Given the description of an element on the screen output the (x, y) to click on. 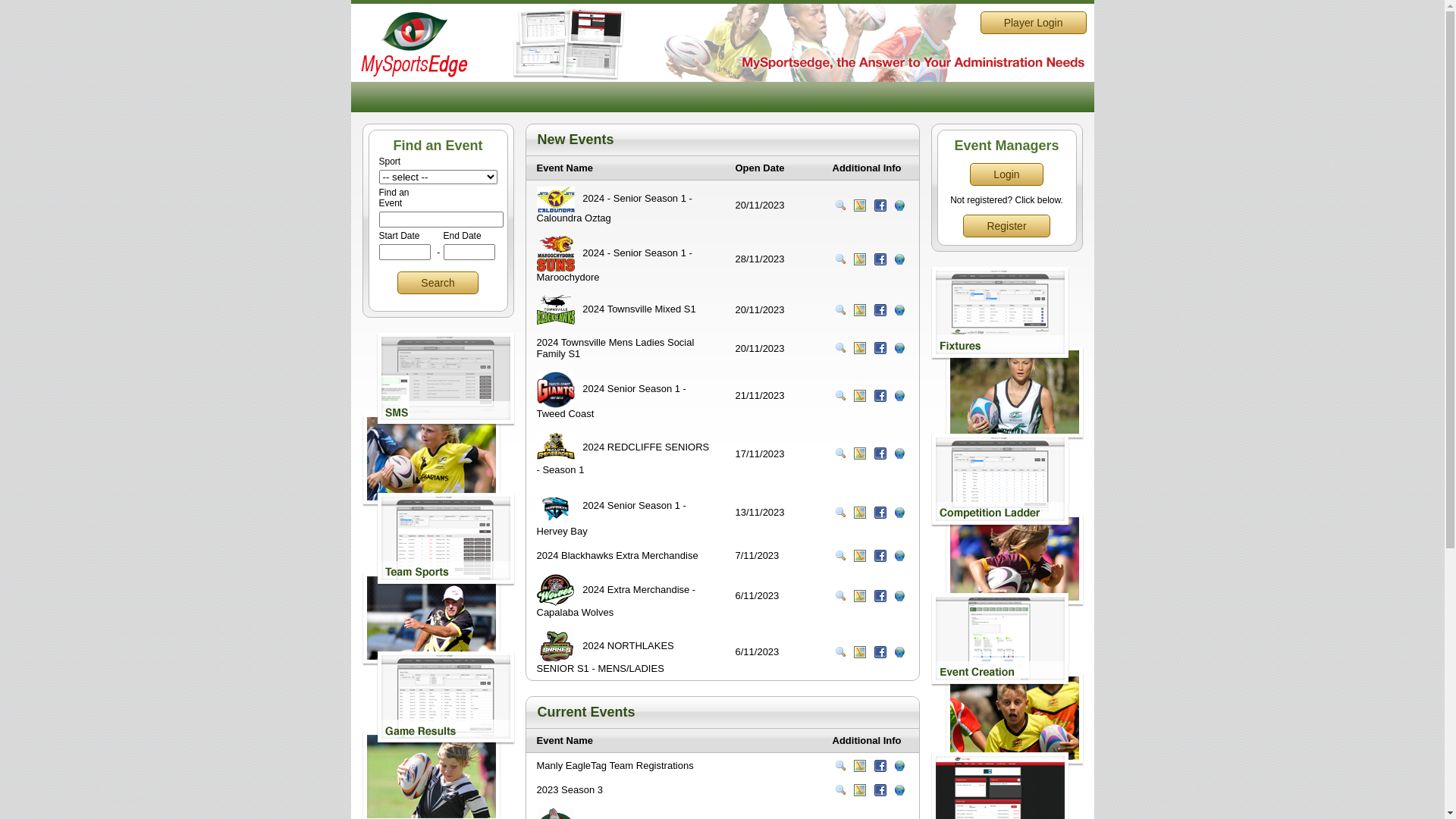
Sign Up Element type: hover (899, 205)
View Event Information Element type: hover (840, 595)
Login Element type: text (1005, 174)
Sign Up Element type: hover (899, 309)
Sign Up Element type: hover (899, 789)
View Event Information Element type: hover (840, 259)
View Event Information Element type: hover (840, 765)
Sign Up Element type: hover (899, 765)
Follow on facebook Element type: hover (880, 790)
Sign Up Element type: hover (899, 453)
View Event Information Element type: hover (840, 395)
View Event Information Element type: hover (840, 555)
Search Element type: text (437, 282)
Sign Up Element type: hover (899, 259)
Register Element type: text (1006, 225)
View on Map Element type: hover (859, 348)
Follow on facebook Element type: hover (880, 512)
View Event Information Element type: hover (840, 205)
Follow on facebook Element type: hover (880, 348)
View on Map Element type: hover (859, 790)
Follow on facebook Element type: hover (880, 395)
View Event Information Element type: hover (840, 309)
Follow on facebook Element type: hover (880, 765)
Sign Up Element type: hover (899, 512)
Follow on facebook Element type: hover (880, 652)
Follow on facebook Element type: hover (880, 555)
View on Map Element type: hover (859, 652)
View on Map Element type: hover (859, 765)
Sign Up Element type: hover (899, 347)
View on Map Element type: hover (859, 310)
View Event Information Element type: hover (840, 512)
Sign Up Element type: hover (899, 555)
Sign Up Element type: hover (899, 651)
Sign Up Element type: hover (899, 395)
View Event Information Element type: hover (840, 347)
View Event Information Element type: hover (840, 453)
Player Login Element type: text (1033, 22)
Sign Up Element type: hover (899, 595)
View on Map Element type: hover (859, 395)
Follow on facebook Element type: hover (880, 453)
View on Map Element type: hover (859, 555)
View on Map Element type: hover (859, 453)
Follow on facebook Element type: hover (880, 259)
Follow on facebook Element type: hover (880, 205)
Follow on facebook Element type: hover (880, 310)
View Event Information Element type: hover (840, 651)
View Event Information Element type: hover (840, 789)
View on Map Element type: hover (859, 205)
Follow on facebook Element type: hover (880, 595)
View on Map Element type: hover (859, 595)
View on Map Element type: hover (859, 259)
View on Map Element type: hover (859, 512)
